Given the description of an element on the screen output the (x, y) to click on. 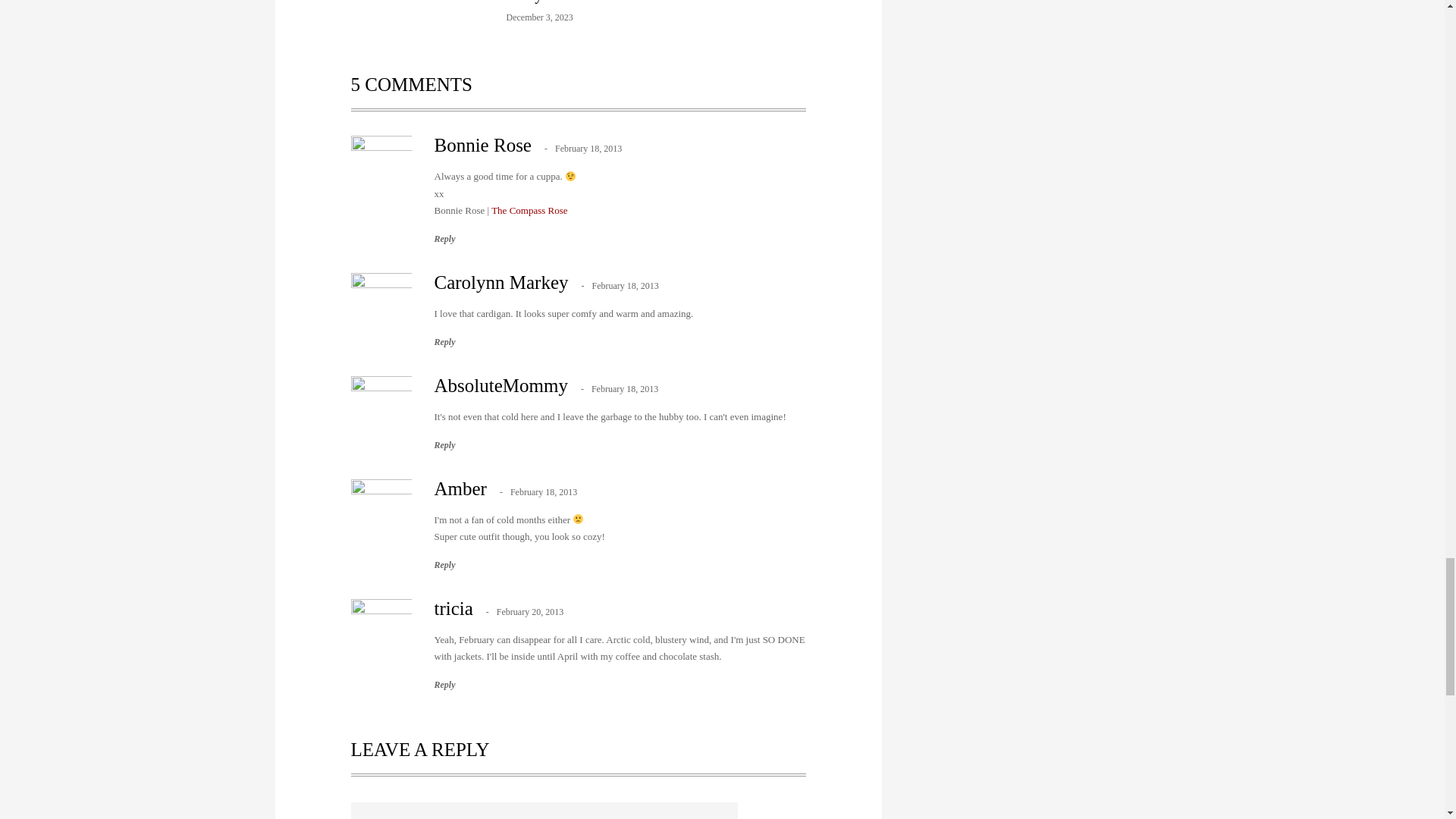
The Compass Rose (529, 210)
Bonnie Rose (482, 145)
AbsoluteMommy (500, 385)
Carolynn Markey (500, 281)
Everyone Runs (552, 1)
Reply (443, 238)
Reply (443, 341)
